Given the description of an element on the screen output the (x, y) to click on. 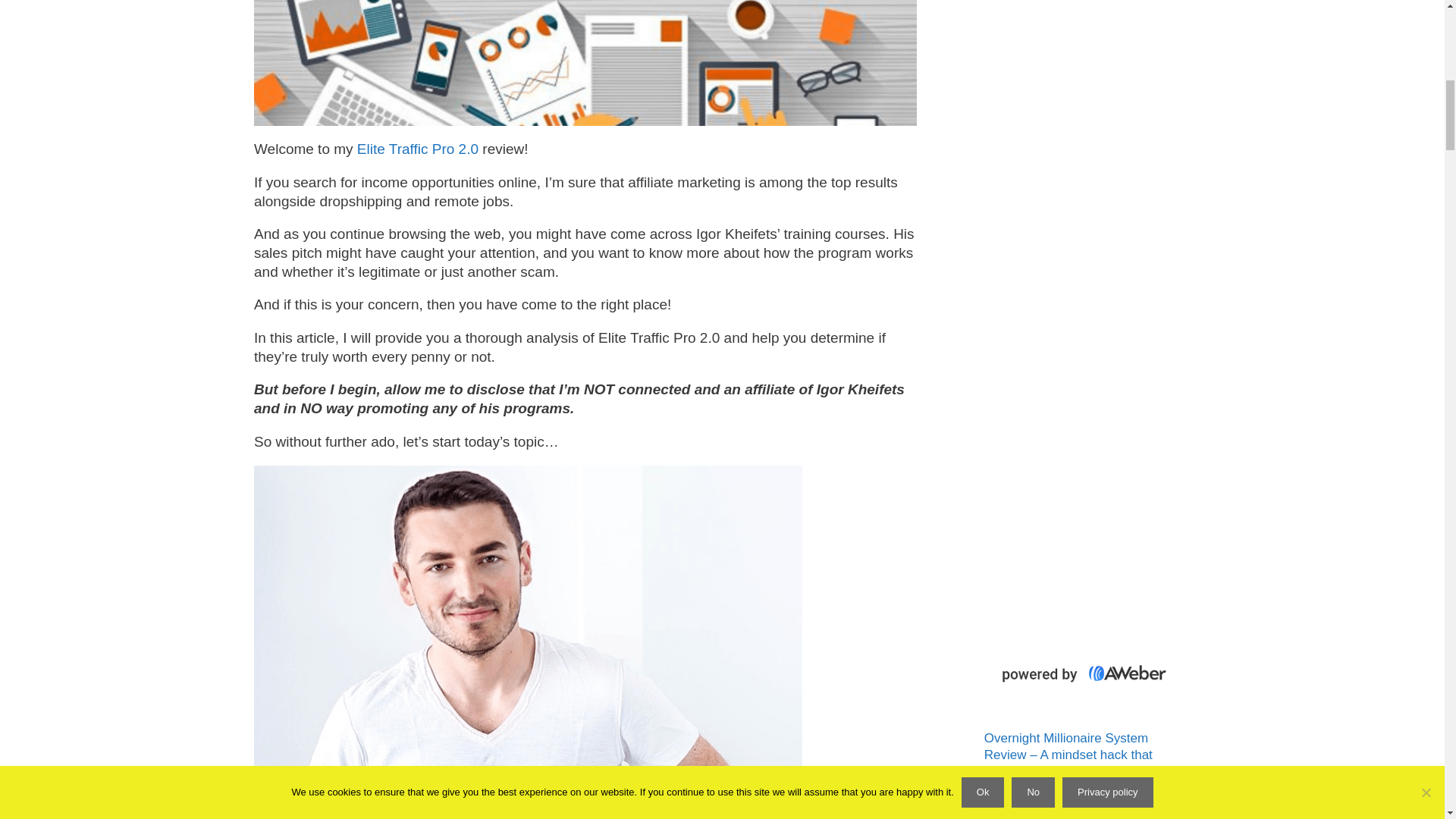
Elite Traffic Pro 2.0 (417, 148)
Scroll back to top (1406, 720)
